Given the description of an element on the screen output the (x, y) to click on. 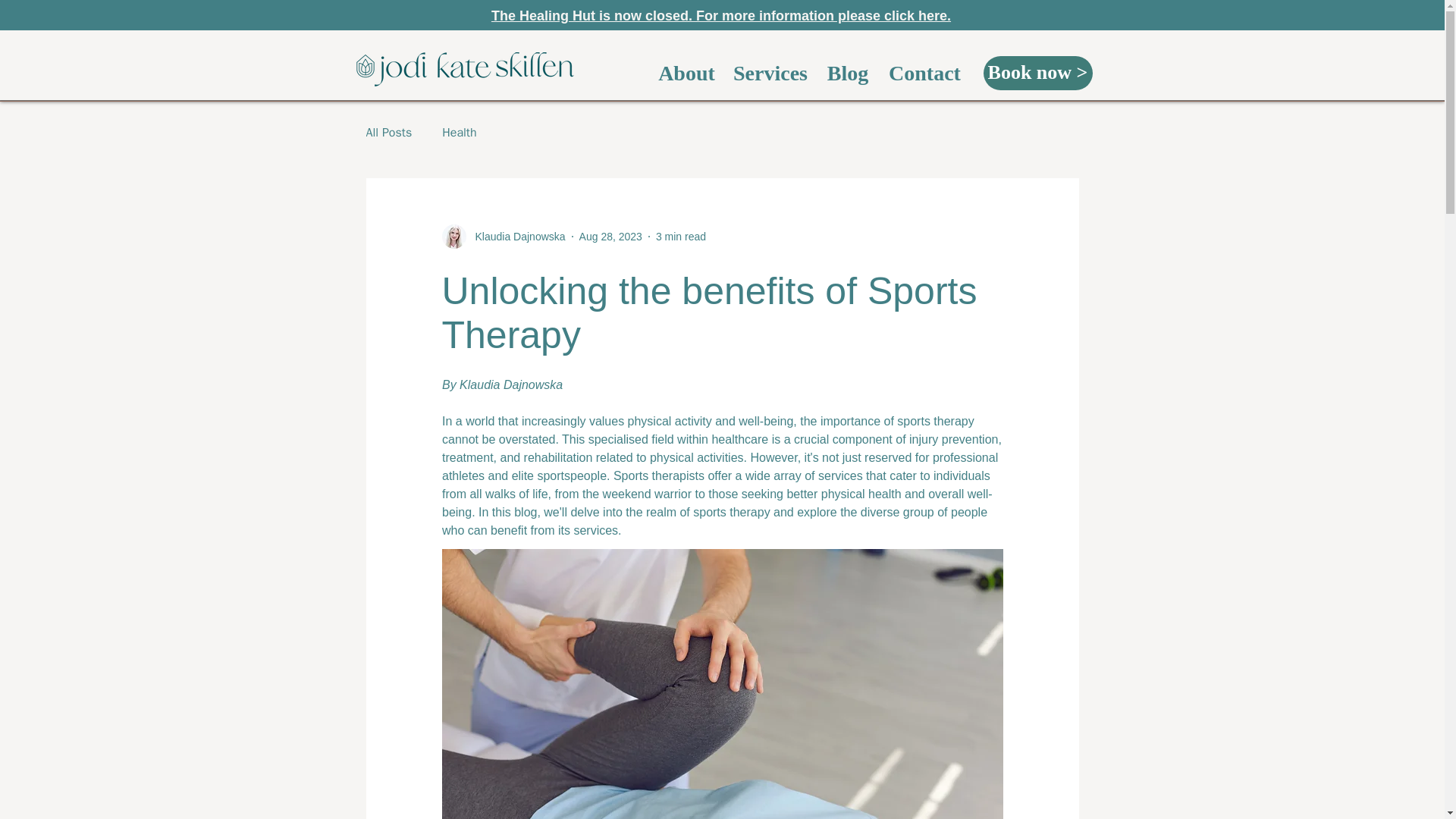
Contact (924, 73)
About (686, 73)
3 min read (681, 236)
All Posts (388, 132)
Klaudia Dajnowska (502, 236)
Klaudia Dajnowska (514, 236)
Blog (847, 73)
Health (459, 132)
Services (770, 73)
